Given the description of an element on the screen output the (x, y) to click on. 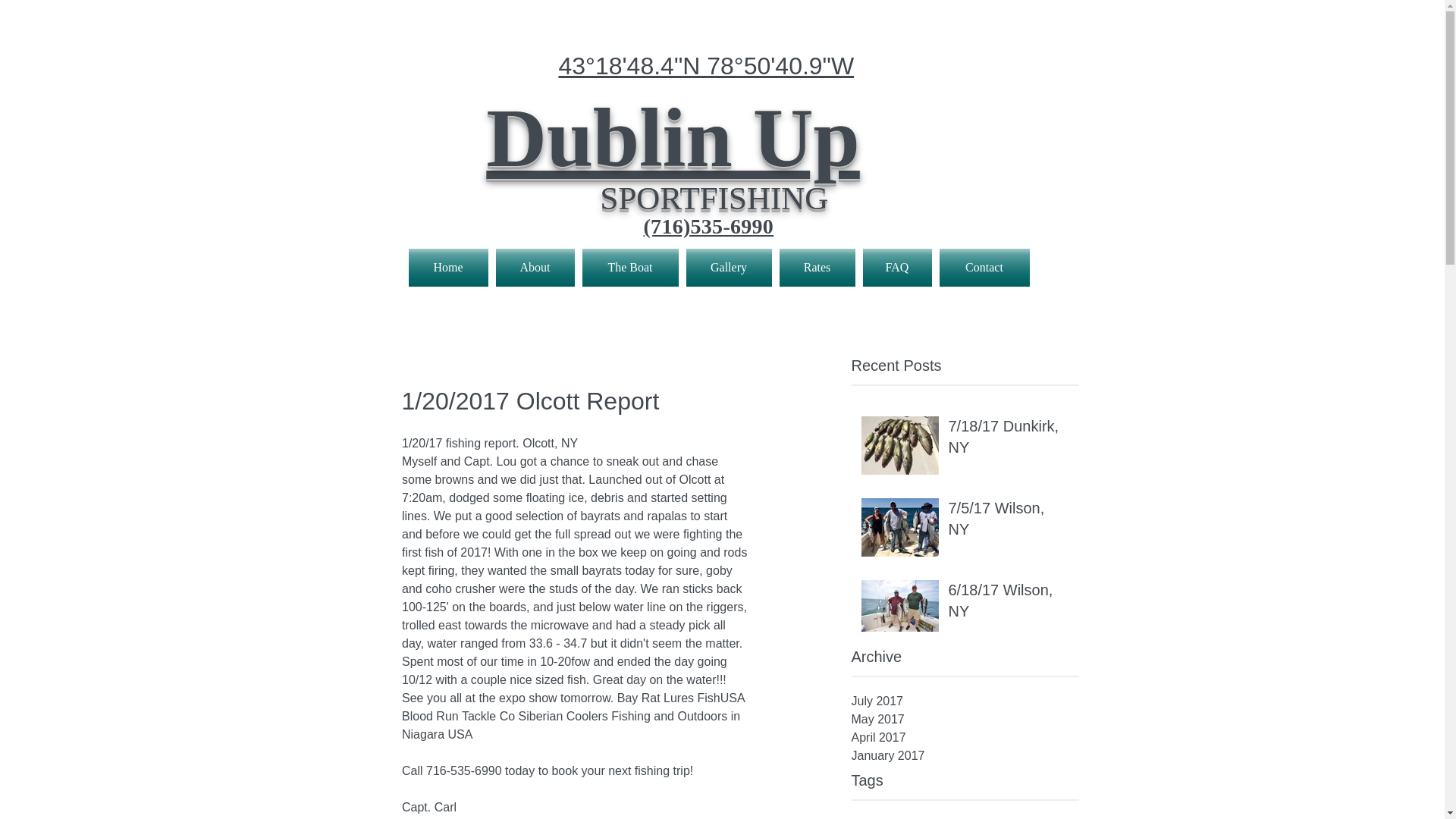
January 2017 (964, 755)
Gallery (729, 267)
April 2017 (964, 737)
Rates (816, 267)
About (535, 267)
FAQ (896, 267)
The Boat (629, 267)
May 2017 (964, 719)
July 2017 (964, 701)
Dublin Up (673, 157)
